Given the description of an element on the screen output the (x, y) to click on. 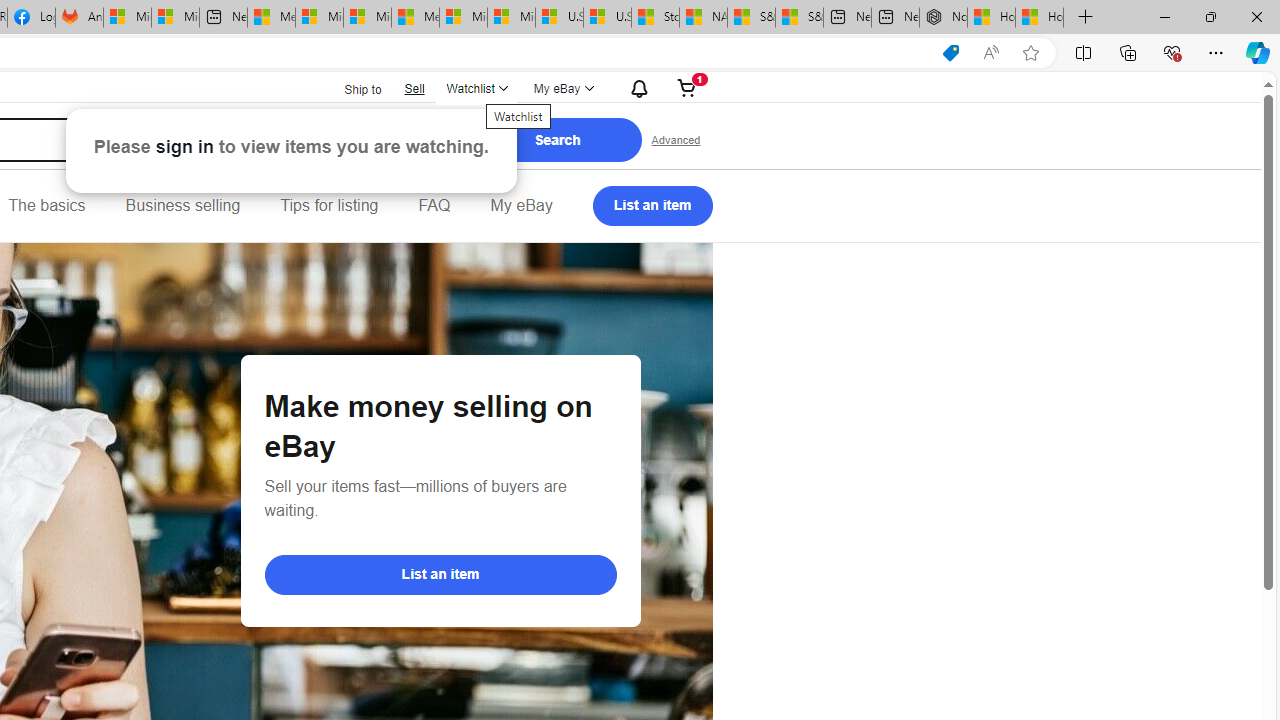
This site has coupons! Shopping in Microsoft Edge (950, 53)
Tips for listing (329, 205)
Ship to (349, 89)
My eBay (521, 205)
My eBayExpand My eBay (562, 88)
The basics (46, 205)
sign in (183, 146)
